Given the description of an element on the screen output the (x, y) to click on. 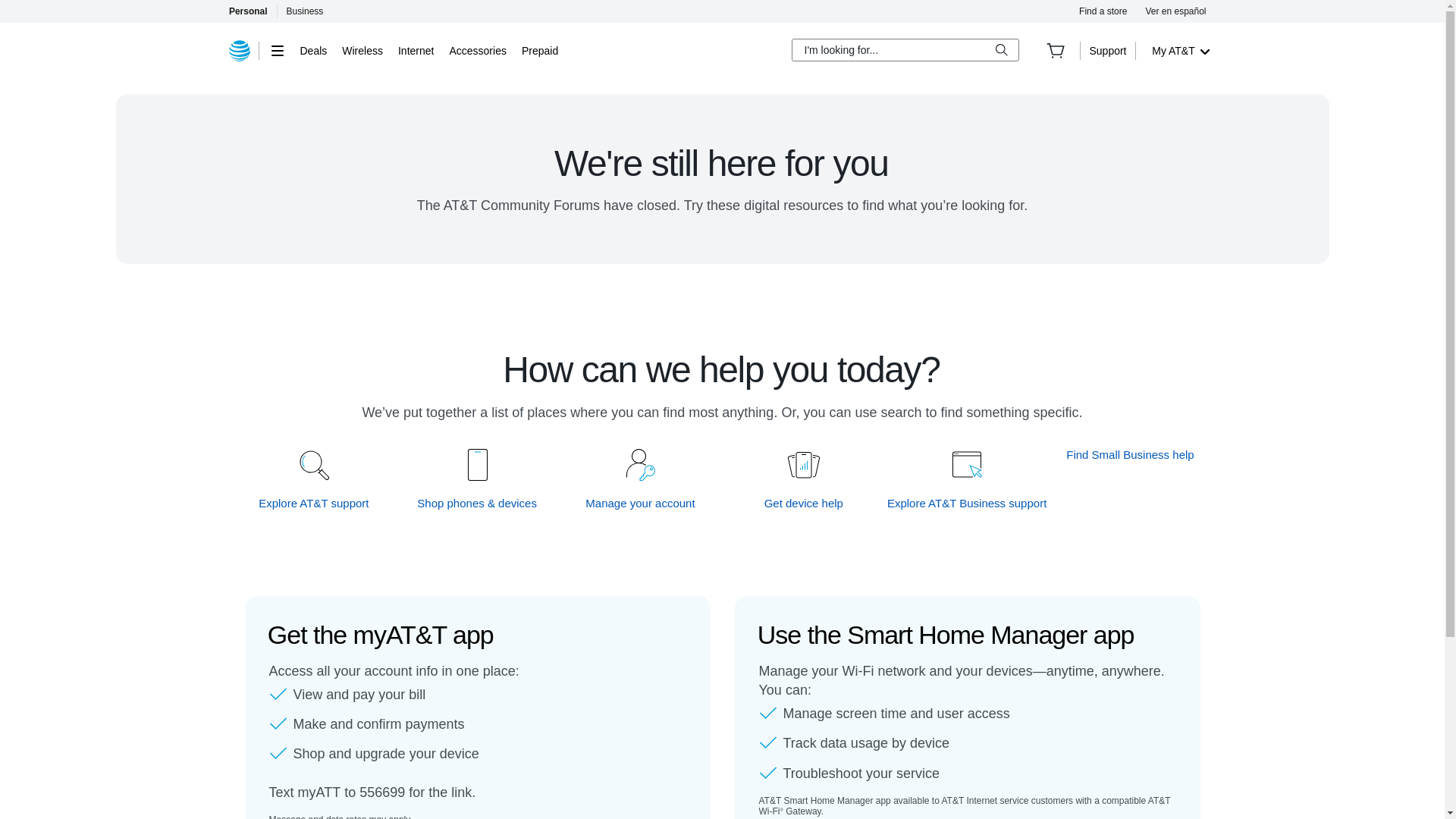
Manage your account (640, 503)
Support (1107, 50)
Find Small Business help (1130, 454)
Support (1107, 50)
Personal (247, 10)
Prepaid (539, 50)
Search (1000, 50)
Internet (415, 50)
Find a store (1102, 10)
Accessories (476, 50)
Wireless (362, 50)
Business (305, 10)
Get device help (803, 503)
